Given the description of an element on the screen output the (x, y) to click on. 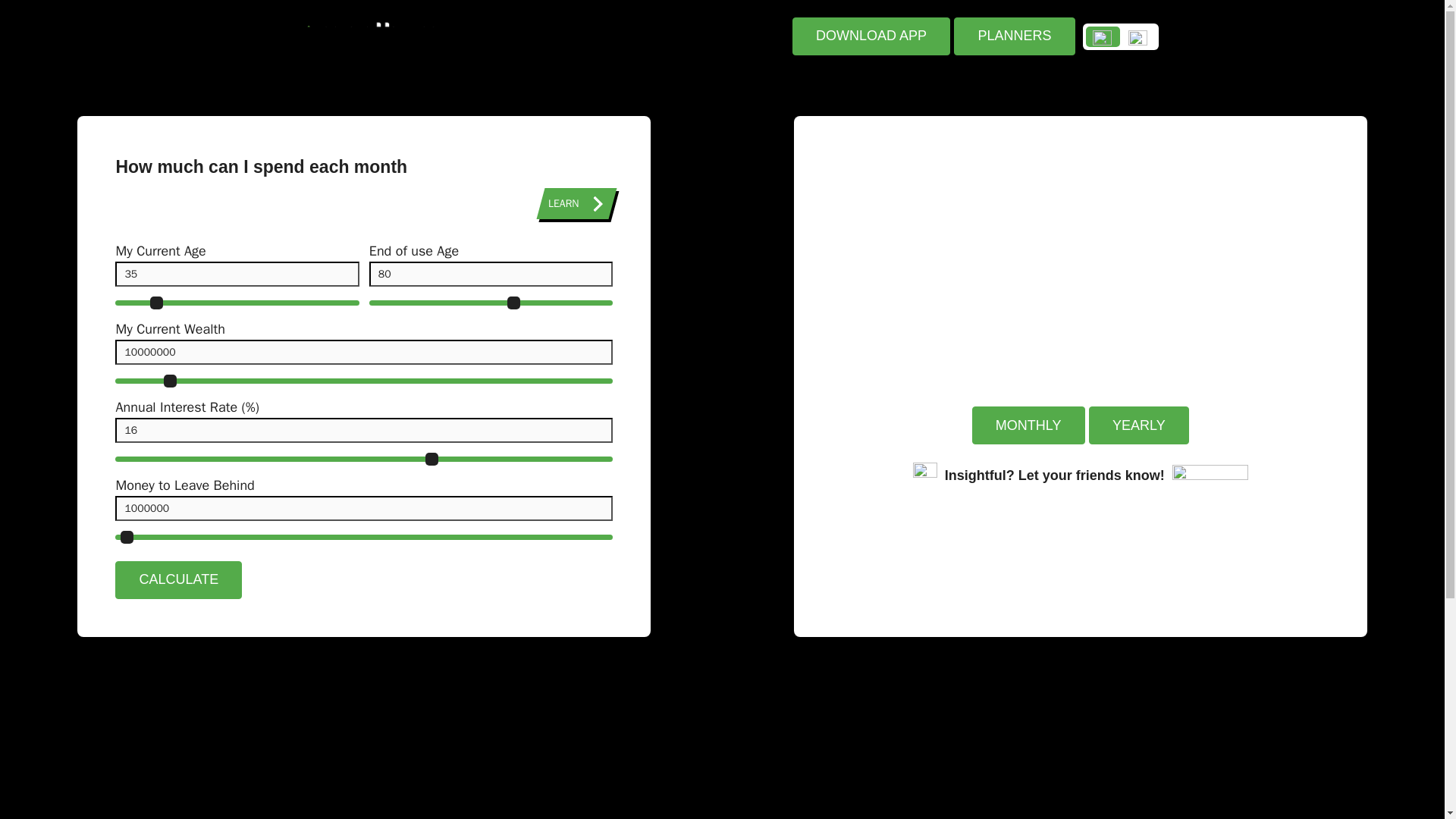
80 (490, 303)
YEARLY (1139, 425)
10000000 (363, 351)
1000000 (363, 536)
35 (236, 273)
1000000 (363, 508)
16 (363, 429)
16 (363, 458)
35 (236, 303)
PLANNERS (1013, 36)
